Given the description of an element on the screen output the (x, y) to click on. 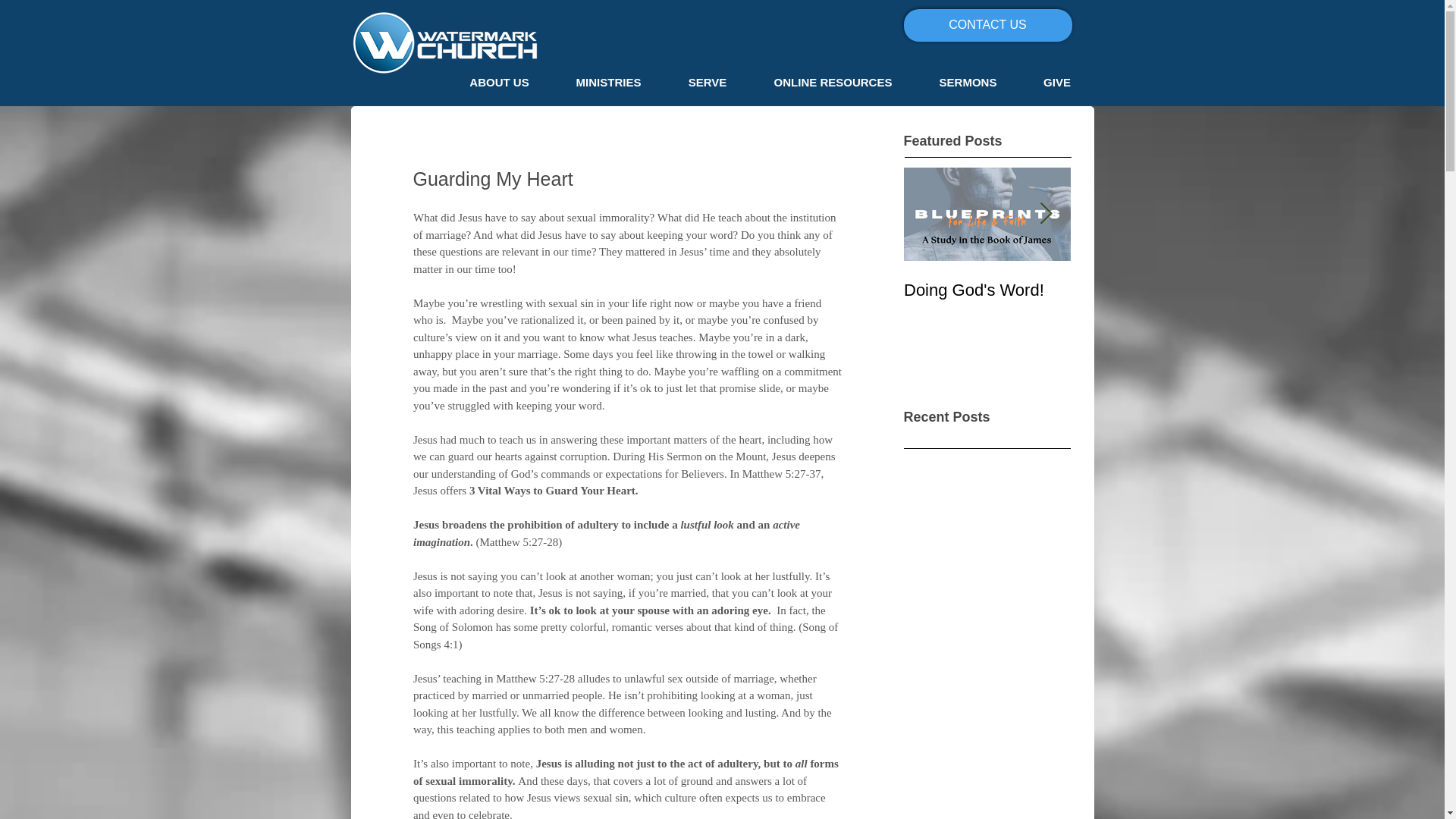
Loving My Neighbor (1153, 290)
CONTACT US (987, 25)
SERVE (706, 82)
GIVE (1057, 82)
Doing God's Word! (987, 290)
ABOUT US (498, 82)
ONLINE RESOURCES (833, 82)
